Given the description of an element on the screen output the (x, y) to click on. 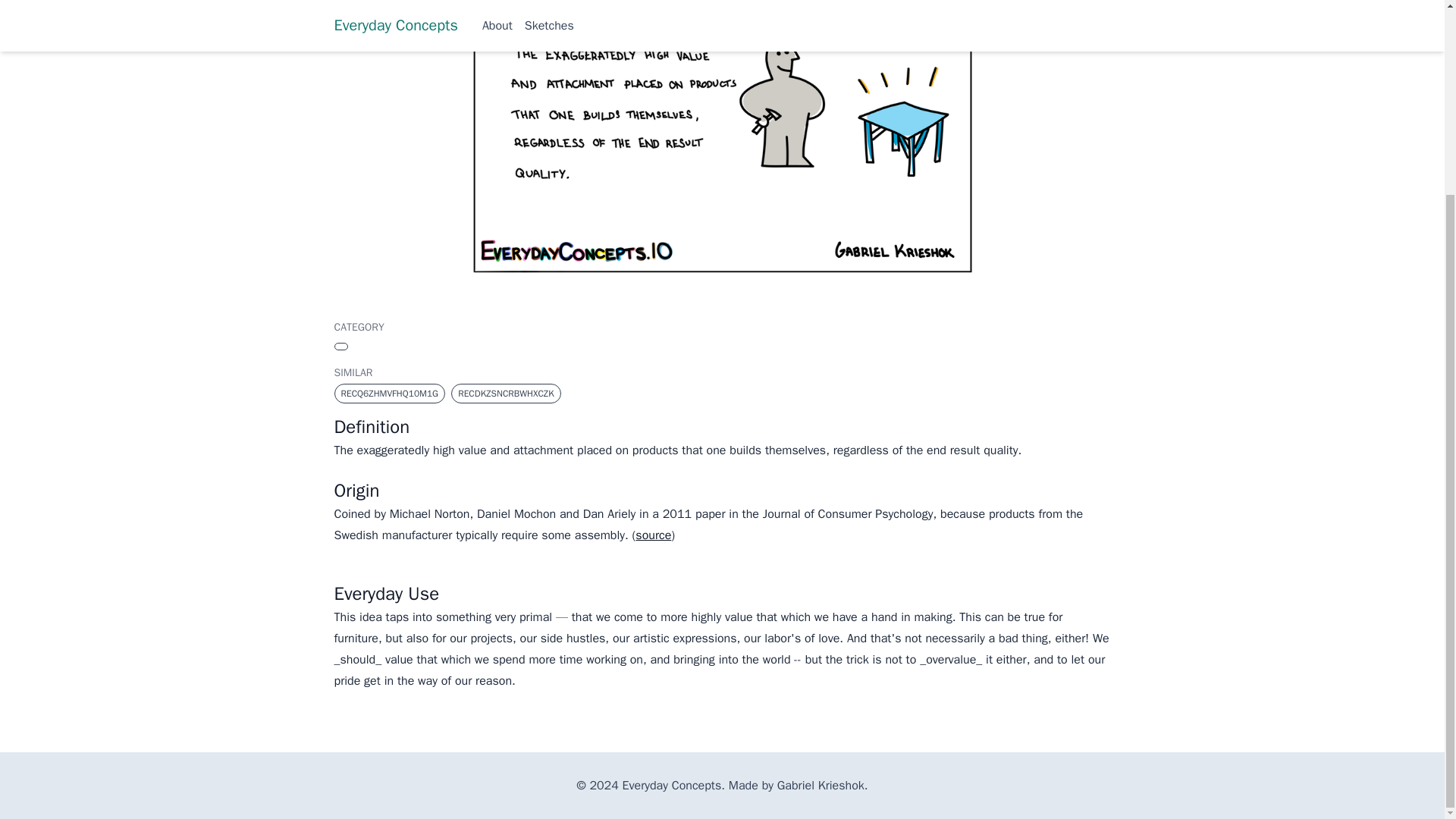
source (652, 534)
Everyday Concepts (672, 785)
Gabriel Krieshok. (822, 785)
